Given the description of an element on the screen output the (x, y) to click on. 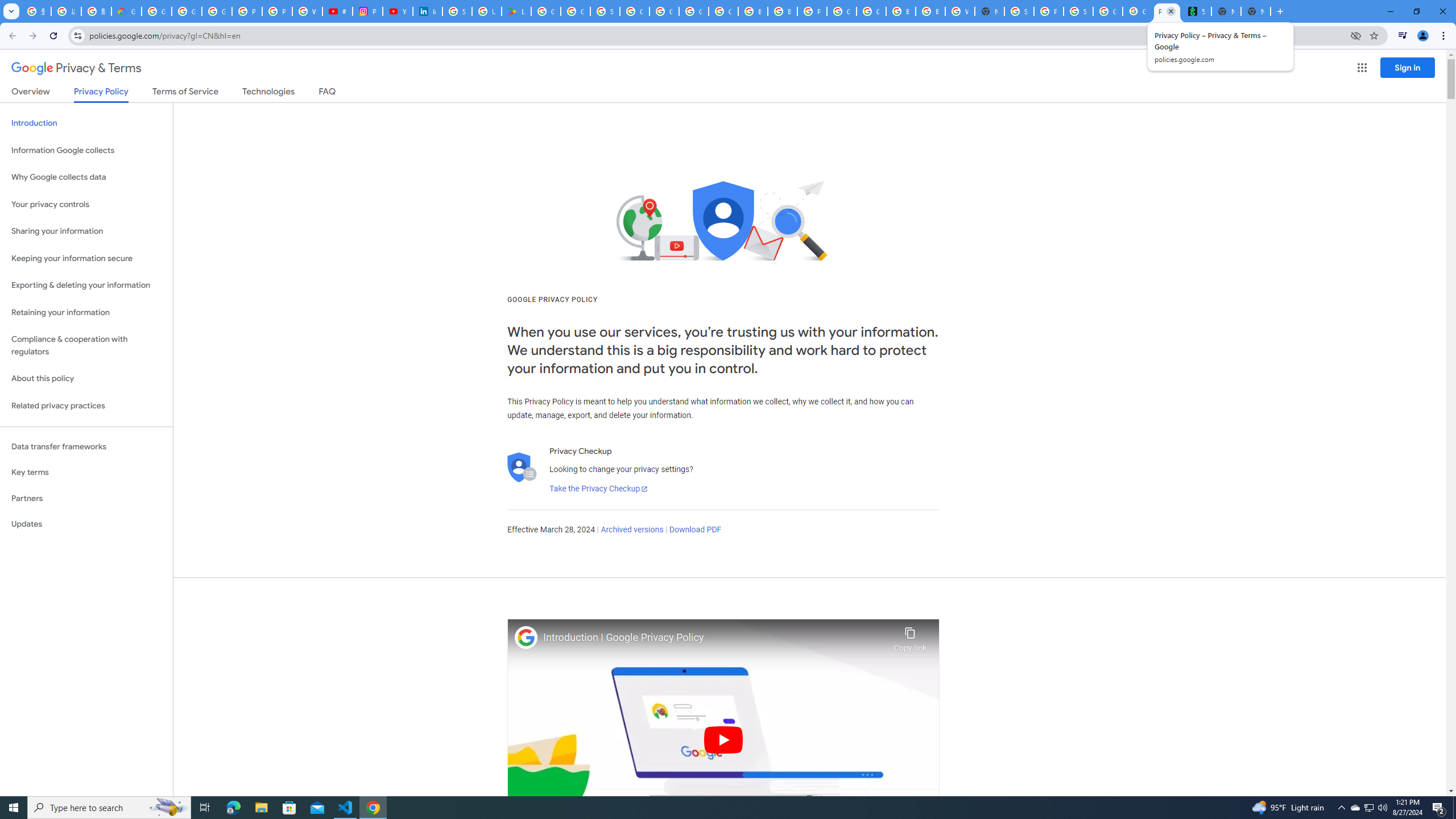
Sign in - Google Accounts (604, 11)
Why Google collects data (86, 176)
Google Cloud Platform (664, 11)
Introduction | Google Privacy Policy (715, 637)
New Tab (989, 11)
Keeping your information secure (86, 258)
Google Cloud Platform (871, 11)
Take the Privacy Checkup (597, 488)
